Given the description of an element on the screen output the (x, y) to click on. 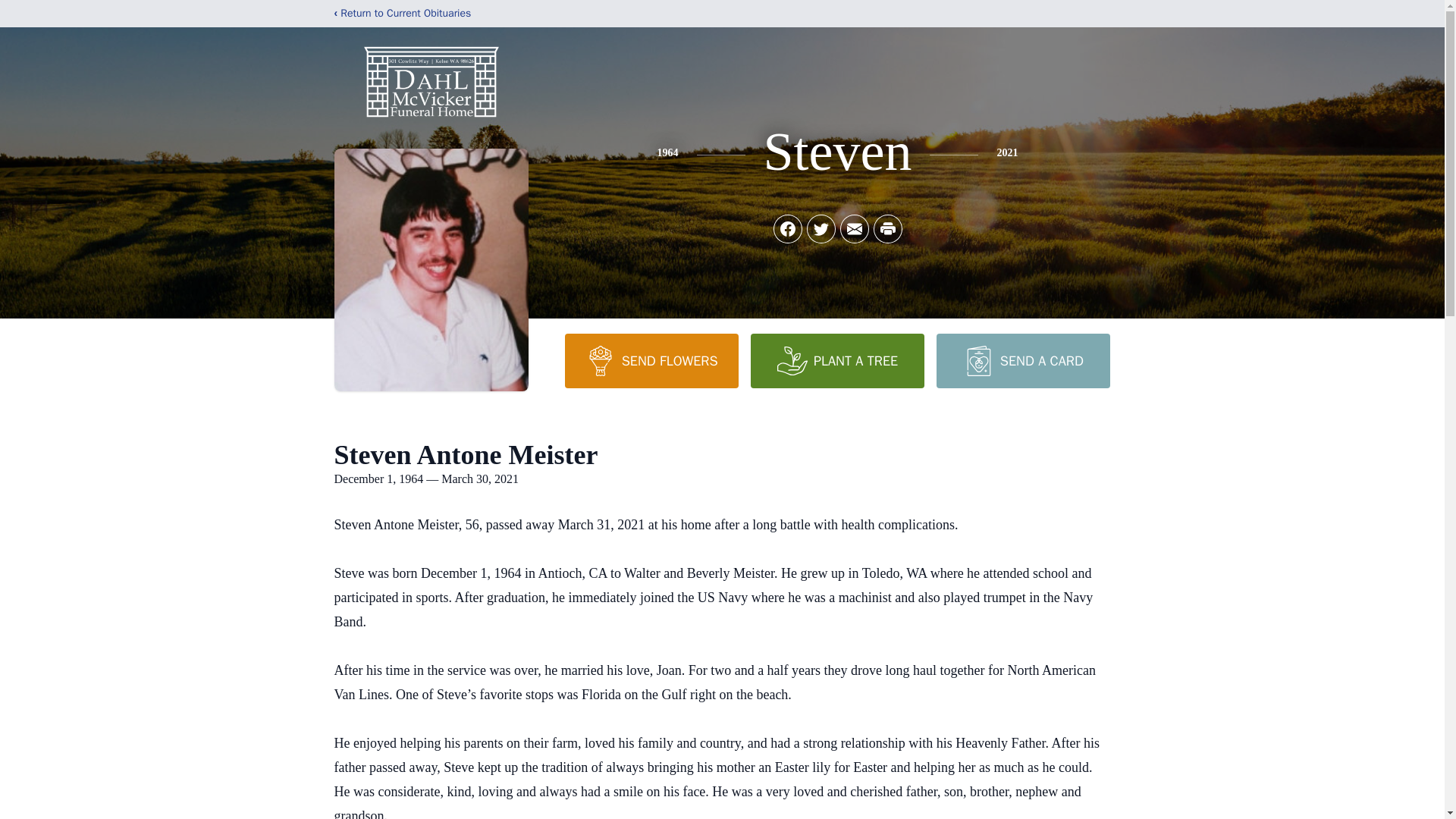
PLANT A TREE (837, 360)
SEND FLOWERS (651, 360)
SEND A CARD (1022, 360)
